Given the description of an element on the screen output the (x, y) to click on. 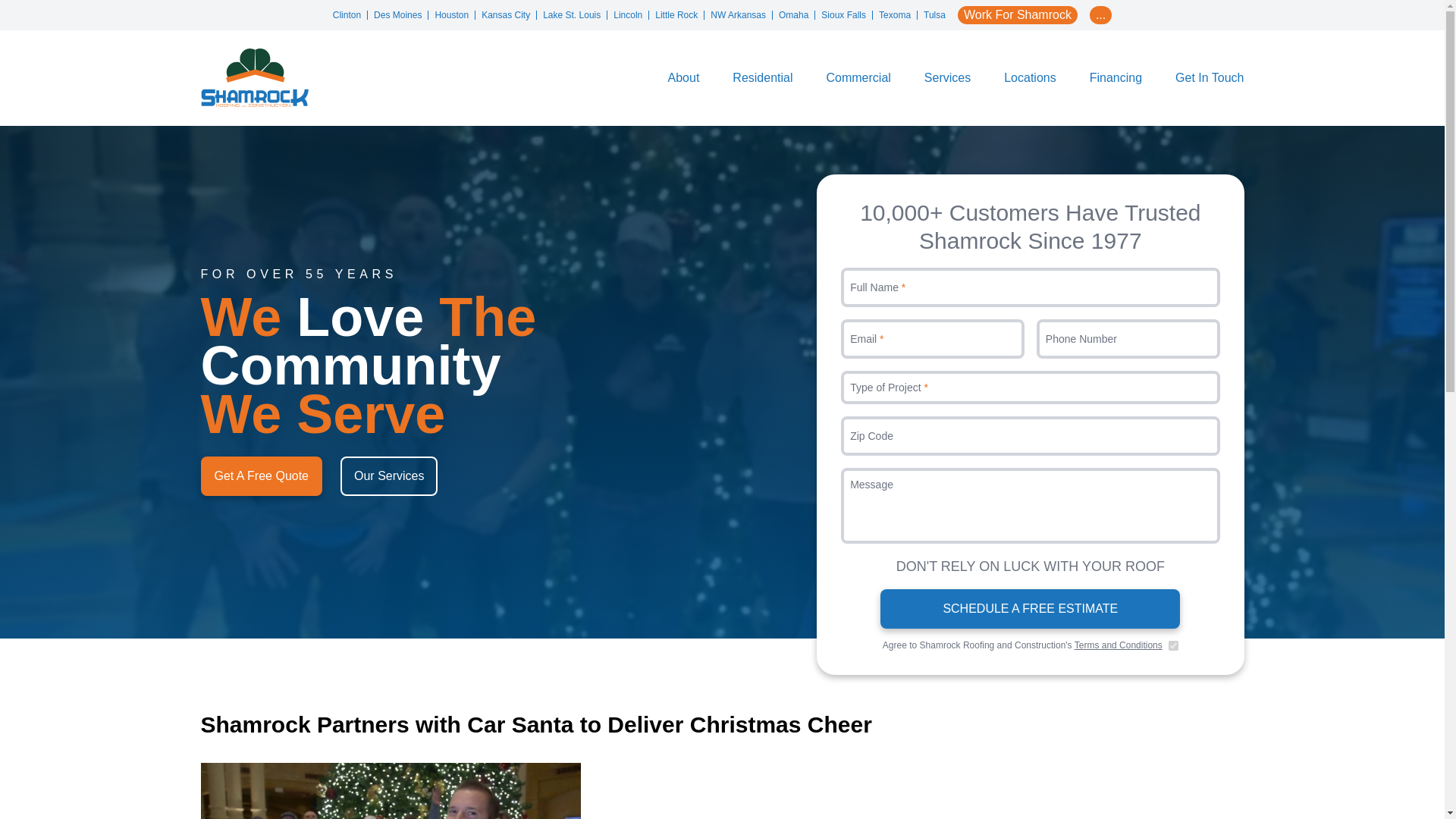
Yes (1173, 645)
Work For Shamrock (1017, 14)
... (1100, 14)
About (684, 77)
Clinton (350, 14)
Lincoln (630, 14)
Kansas City (509, 14)
Services (947, 77)
Texoma (898, 14)
NW Arkansas (741, 14)
